Given the description of an element on the screen output the (x, y) to click on. 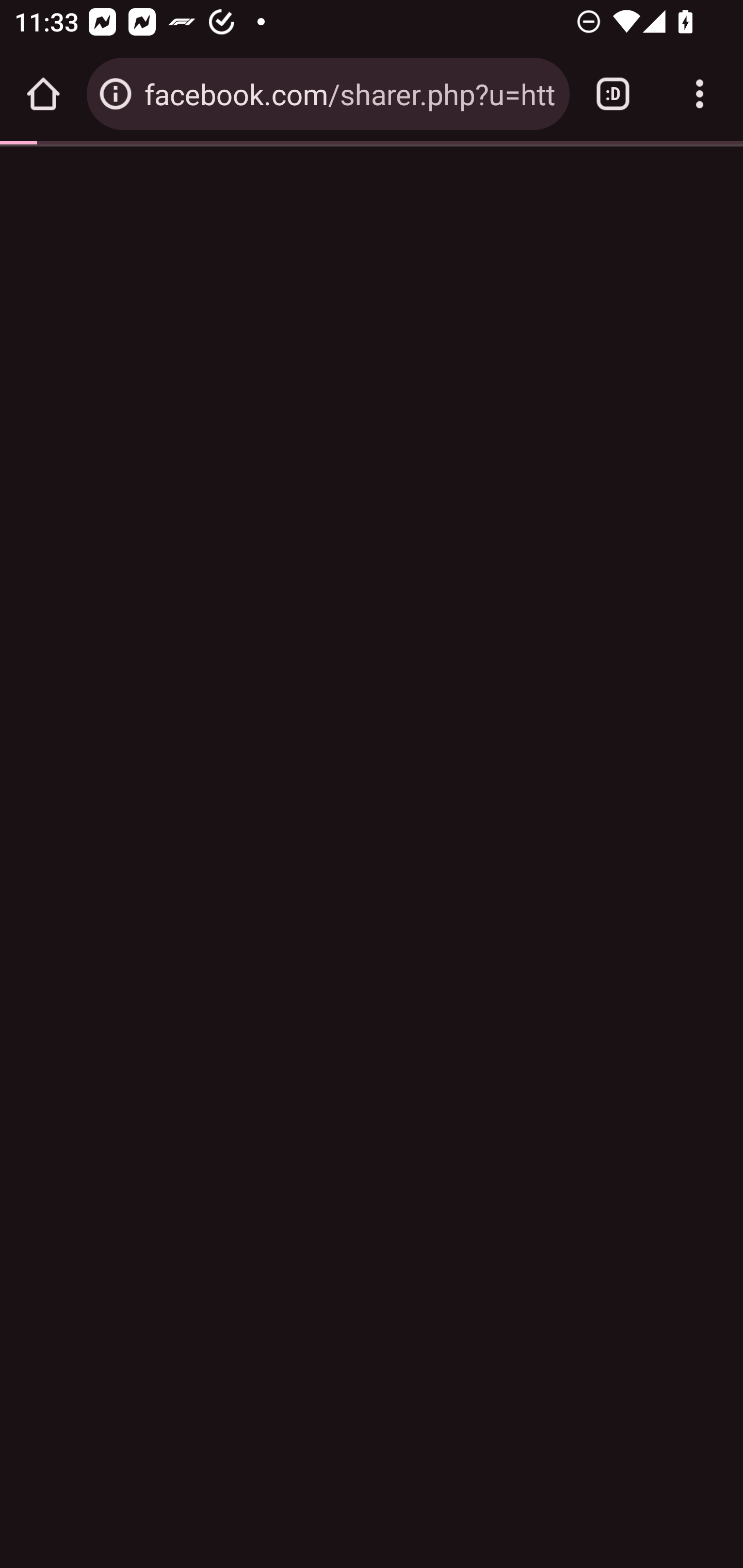
Open the home page (43, 93)
Your connection to this site is not secure (115, 93)
Switch or close tabs (612, 93)
Customize and control Google Chrome (699, 93)
